Given the description of an element on the screen output the (x, y) to click on. 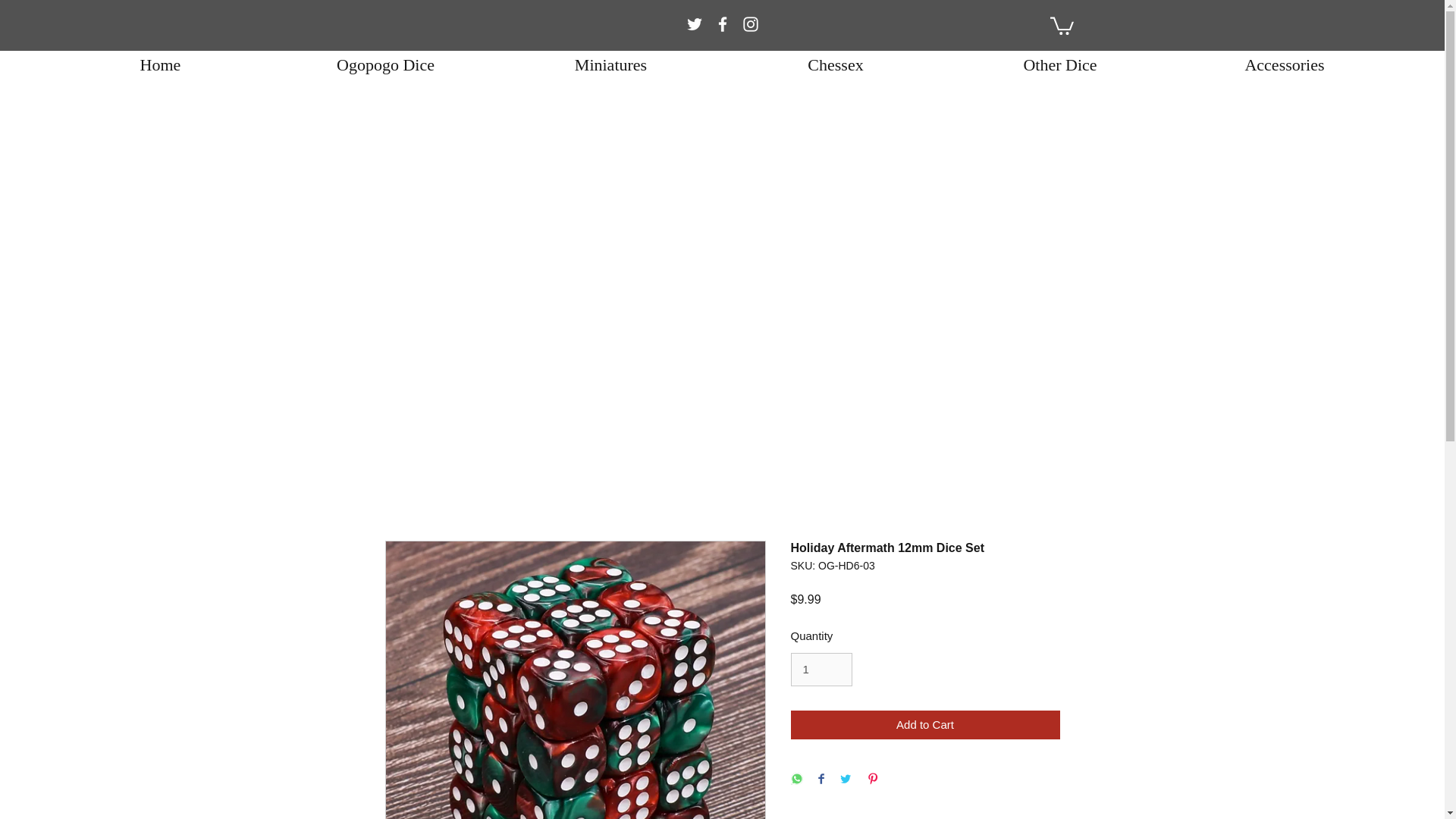
Miniatures (610, 64)
Chessex (835, 64)
1 (820, 669)
Add to Cart (924, 725)
Accessories (1284, 64)
Home (160, 64)
Ogopogo Dice (385, 64)
Other Dice (1059, 64)
